Given the description of an element on the screen output the (x, y) to click on. 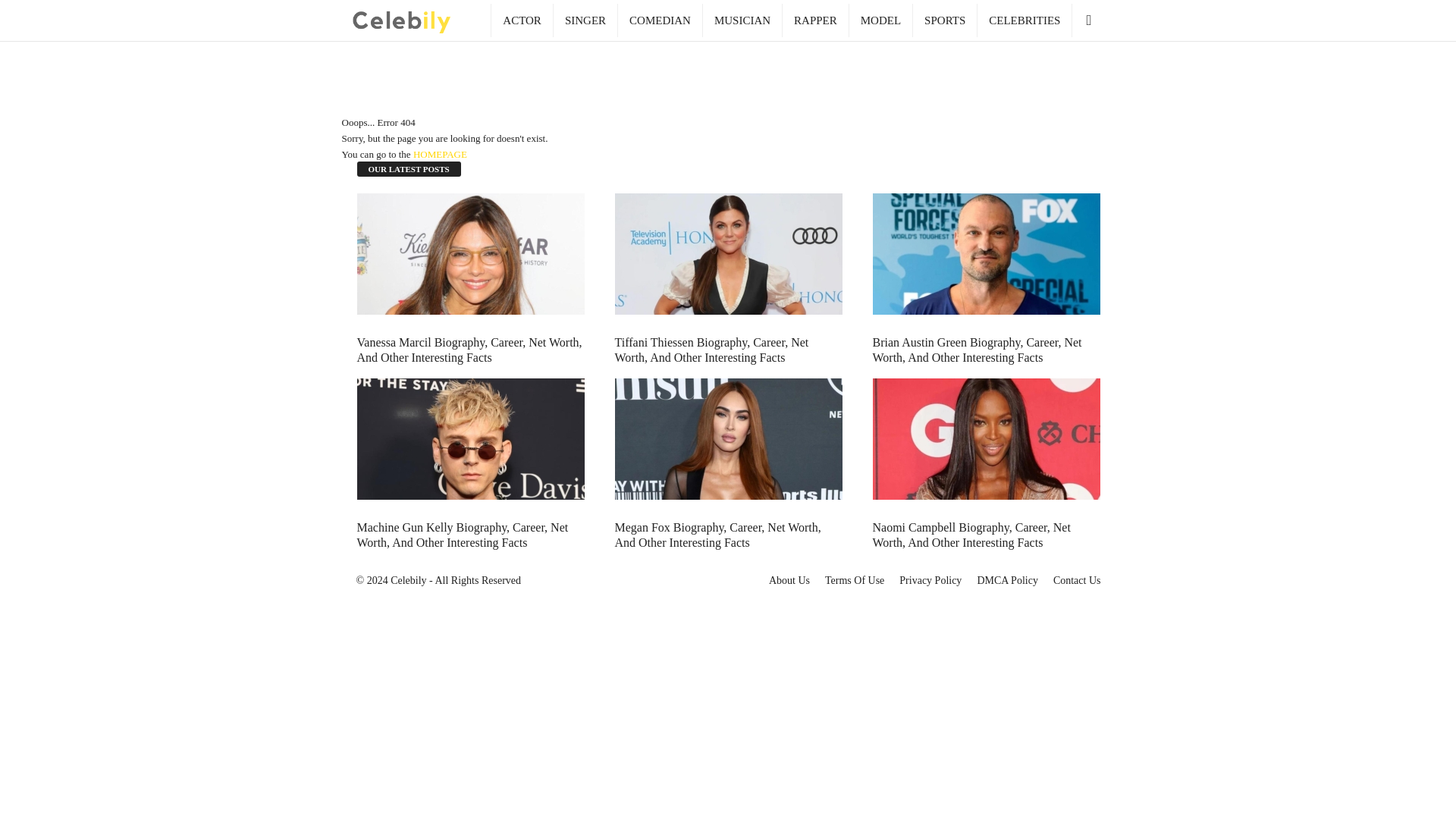
ACTOR (522, 20)
SPORTS (944, 20)
COMEDIAN (659, 20)
HOMEPAGE (440, 153)
SINGER (585, 20)
RAPPER (815, 20)
Terms Of Use (853, 580)
